Given the description of an element on the screen output the (x, y) to click on. 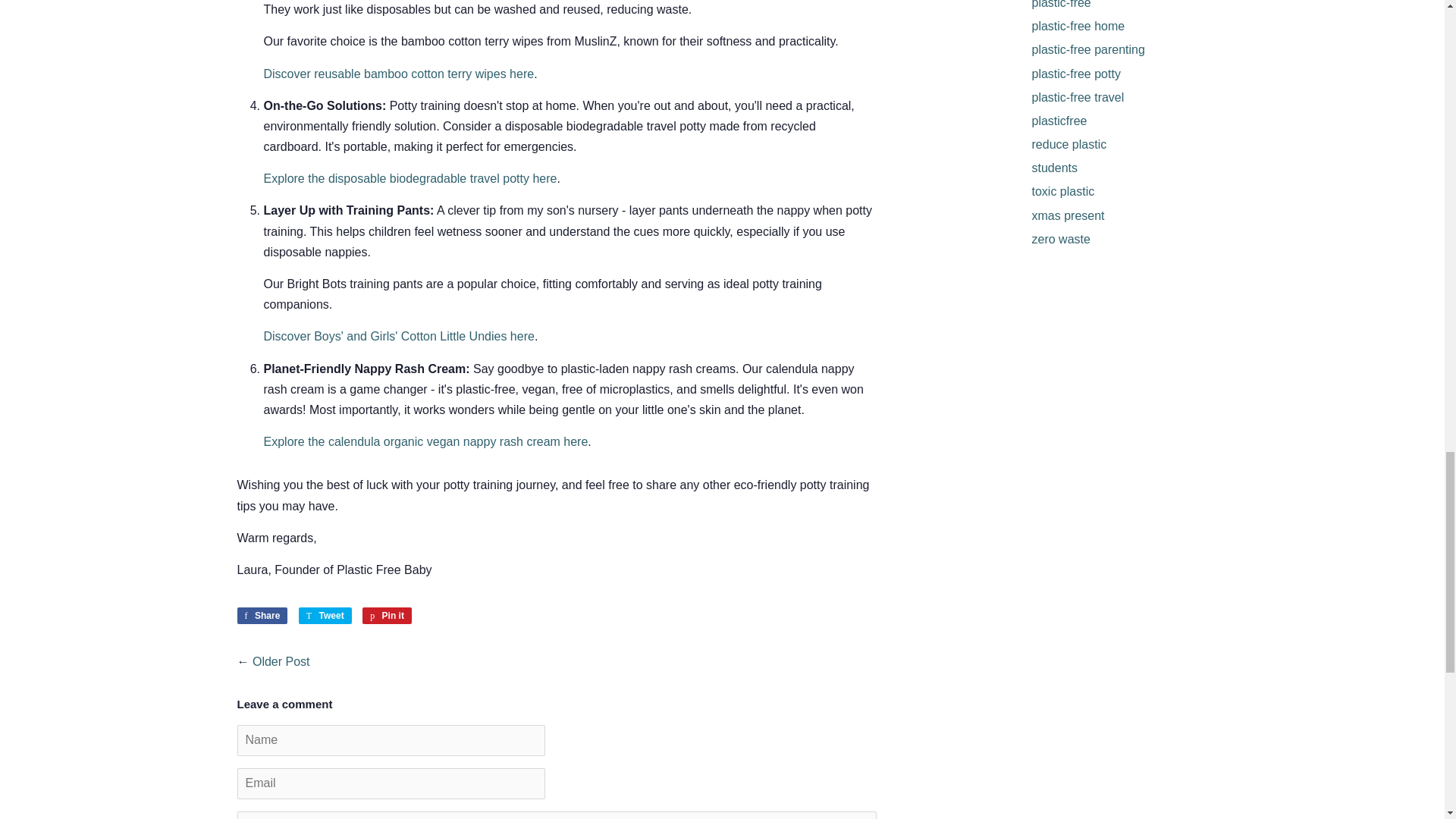
Share on Facebook (260, 615)
Tweet on Twitter (325, 615)
Pin on Pinterest (387, 615)
